Given the description of an element on the screen output the (x, y) to click on. 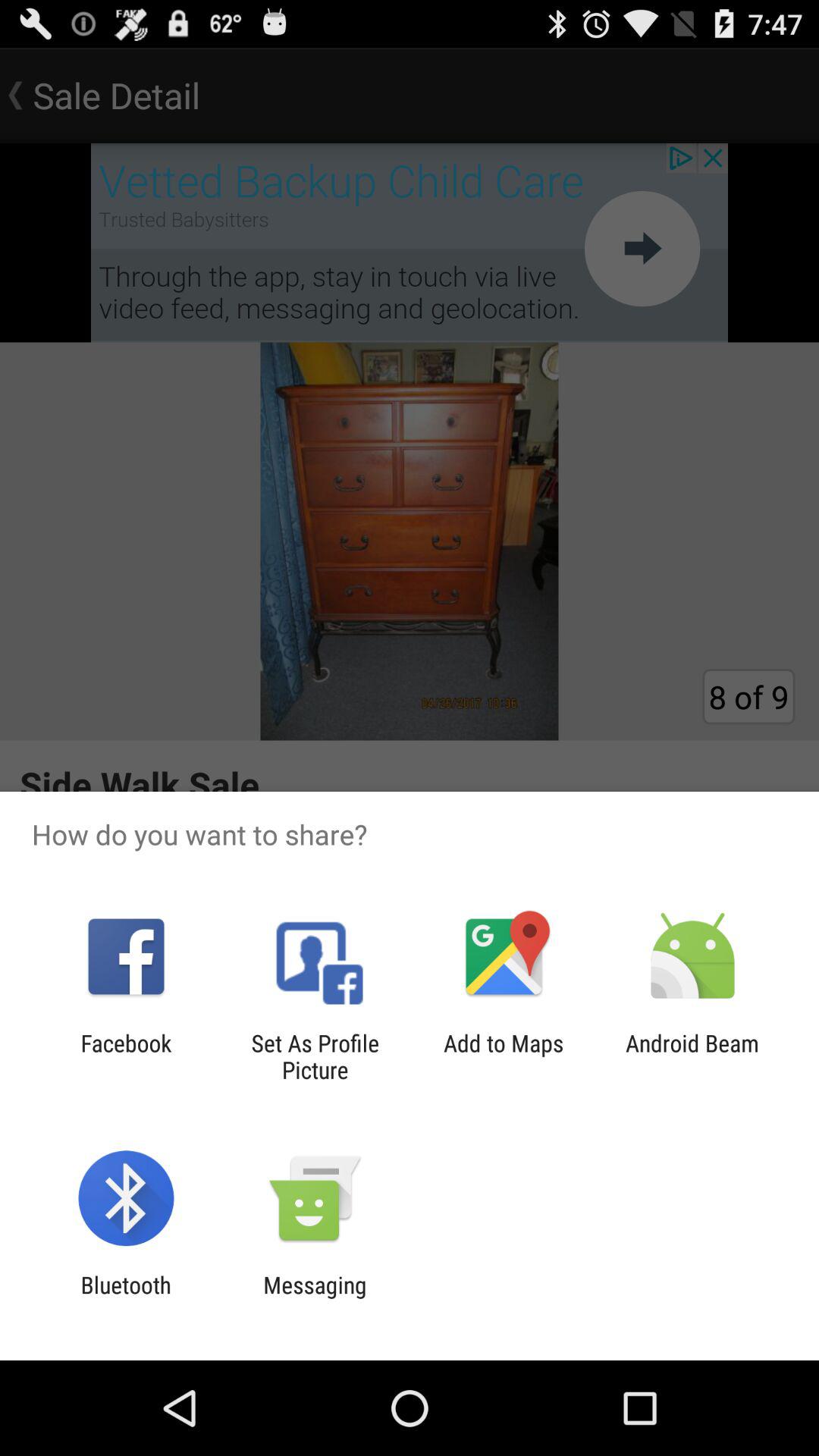
click the app at the bottom right corner (692, 1056)
